Given the description of an element on the screen output the (x, y) to click on. 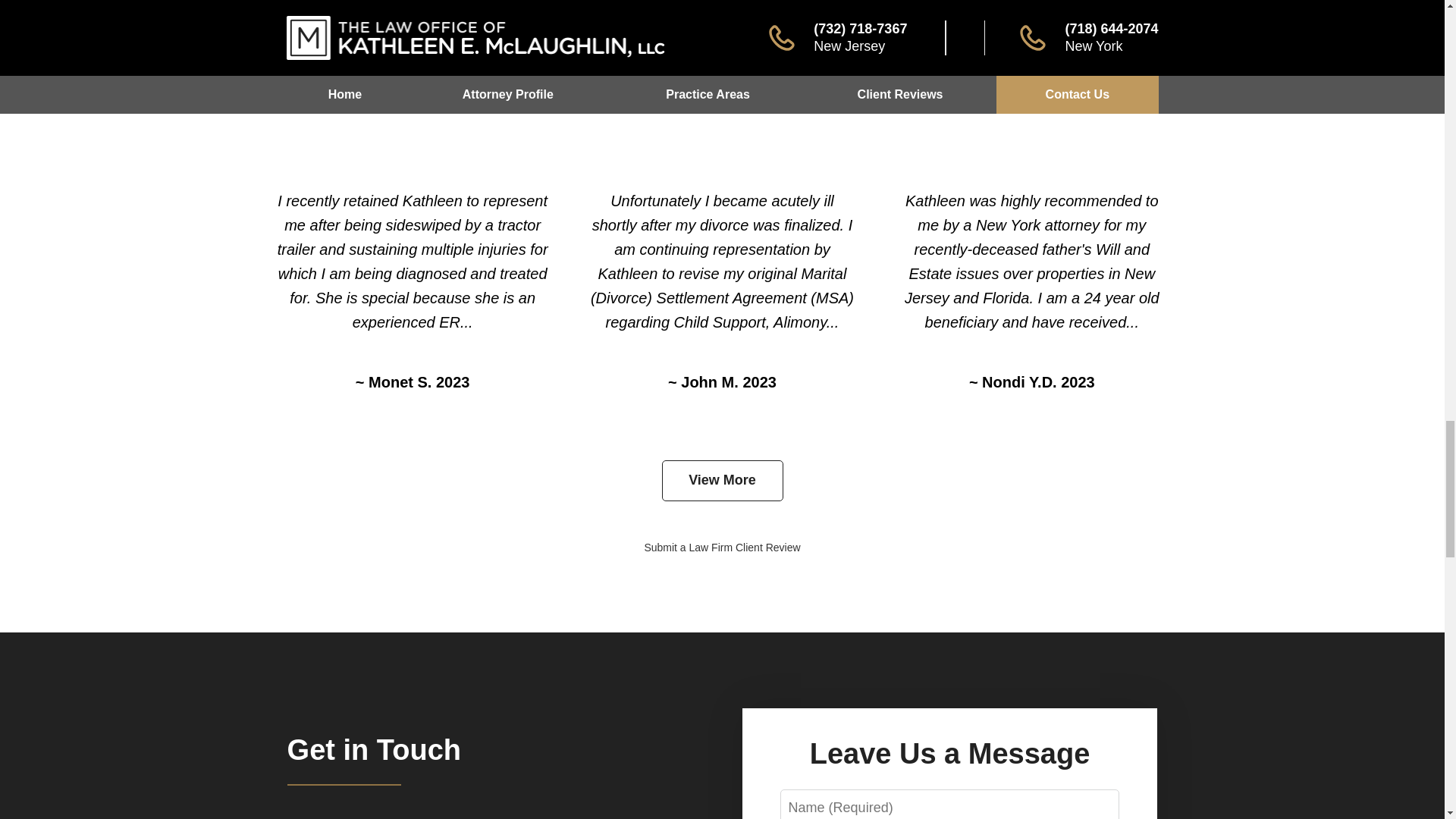
View More (722, 480)
Submit a Law Firm Client Review (721, 547)
